Given the description of an element on the screen output the (x, y) to click on. 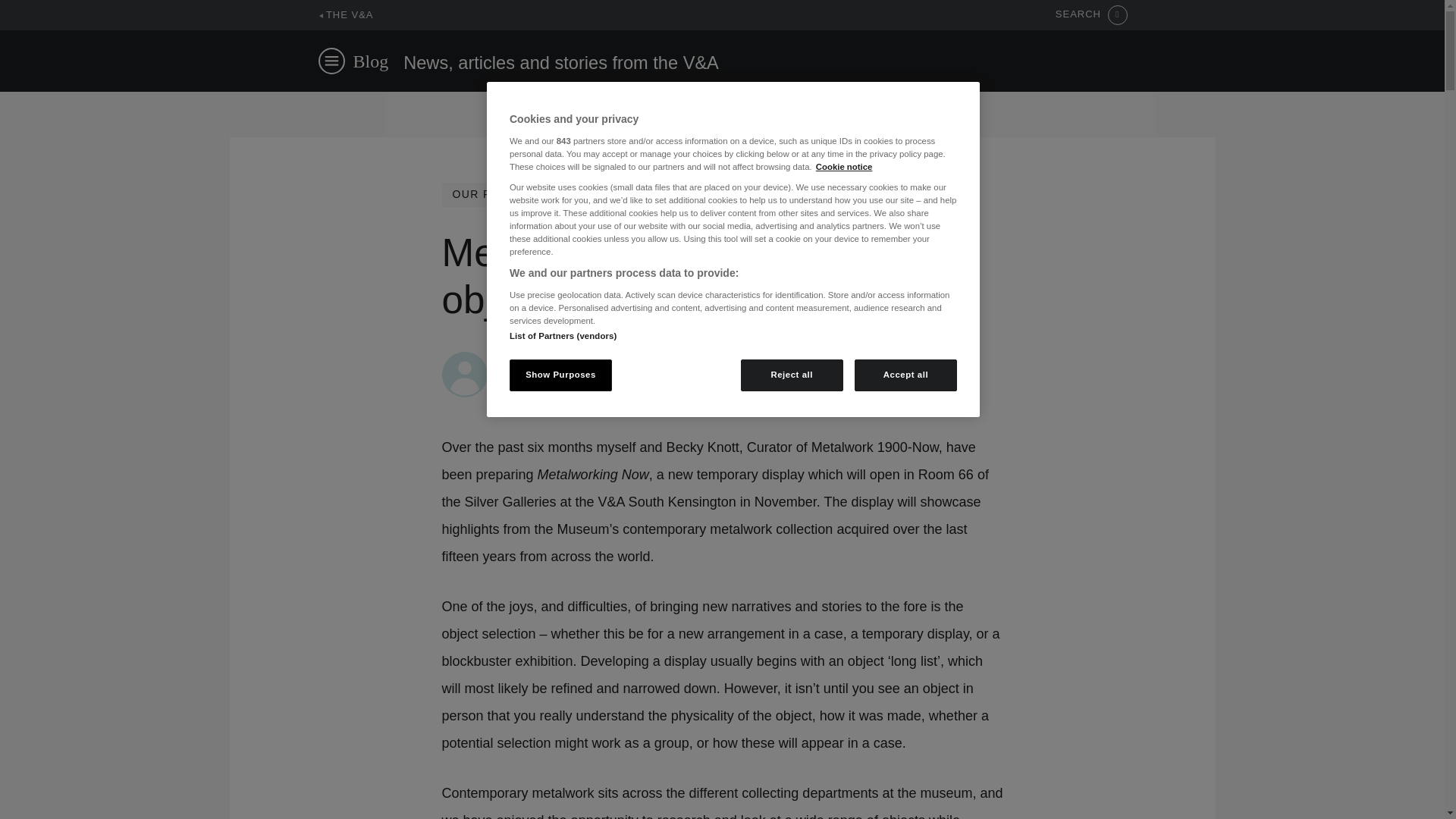
Clementine Loustric (550, 359)
Posts by Clementine Loustric (550, 359)
Blog (370, 60)
OUR PROJECTS (499, 194)
SEARCH (1090, 15)
